Given the description of an element on the screen output the (x, y) to click on. 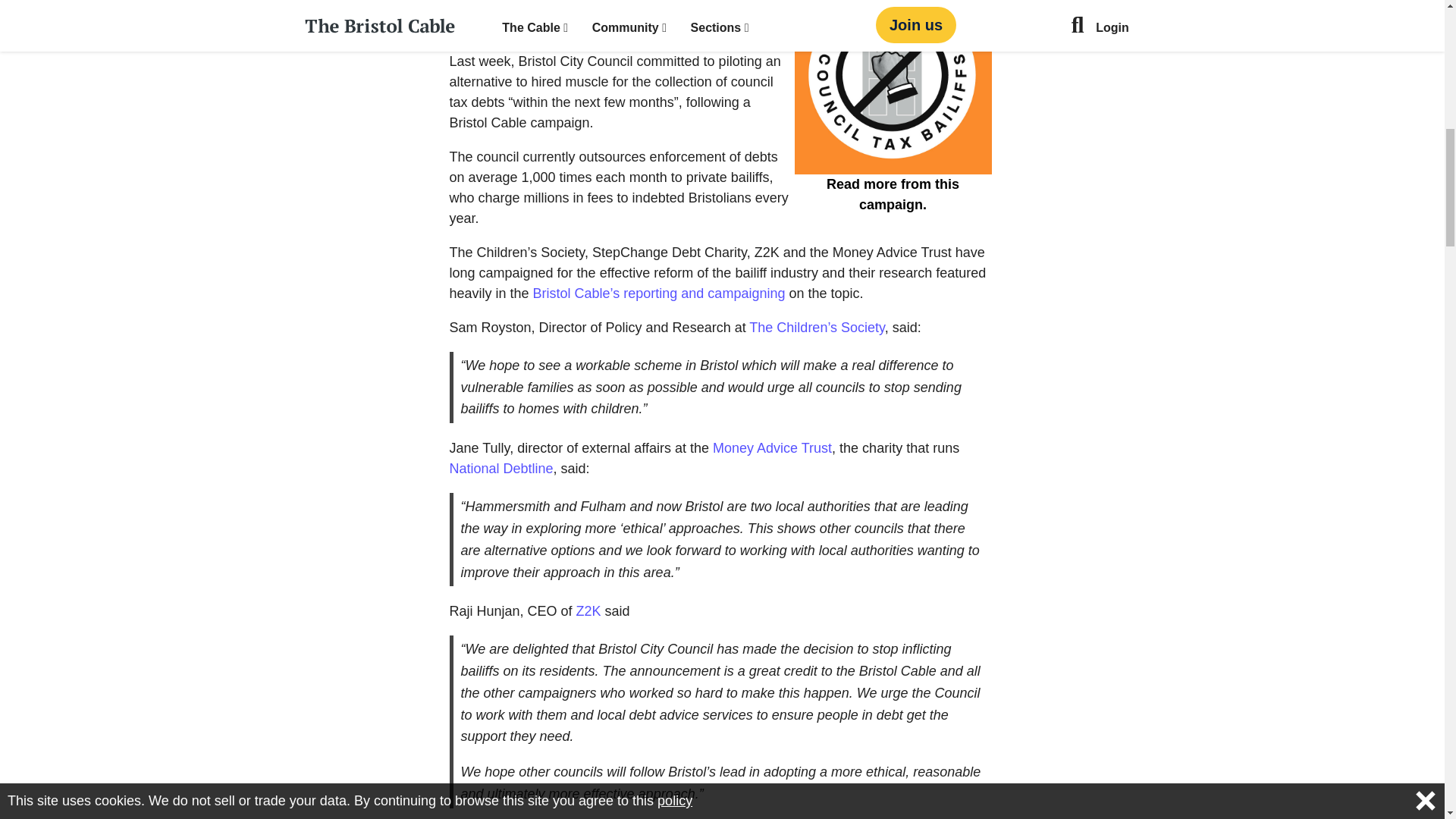
Opens in a new tab (816, 327)
Opens in a new tab (500, 468)
Read more from this campaign. (892, 107)
Opens in a new tab (588, 611)
National Debtline (500, 468)
Opens in a new tab (772, 447)
Money Advice Trust (772, 447)
Z2K (588, 611)
